Given the description of an element on the screen output the (x, y) to click on. 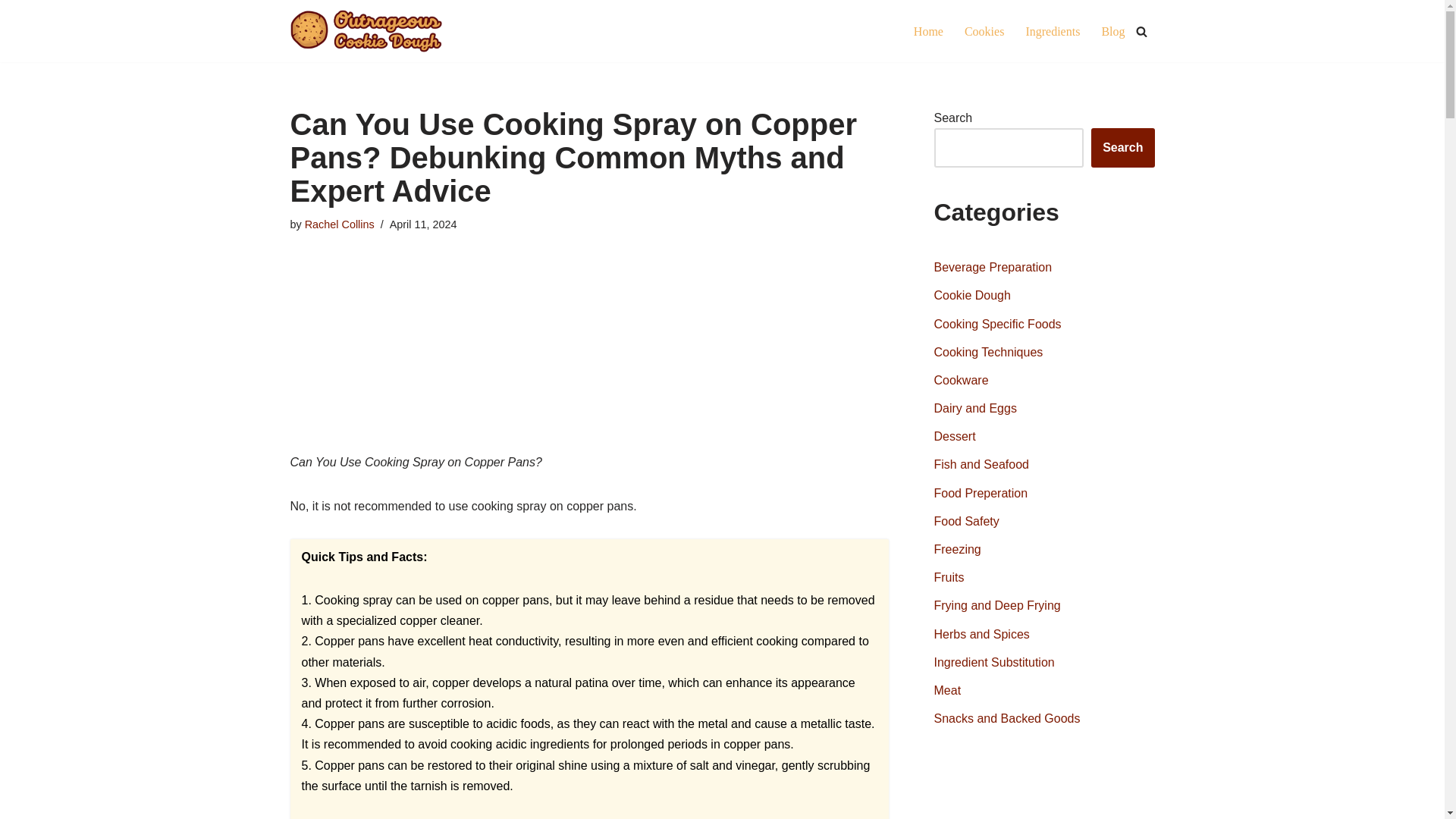
Food Safety (966, 521)
Frying and Deep Frying (997, 604)
Cookie Dough (972, 295)
Fruits (948, 576)
Home (928, 31)
Dairy and Eggs (975, 408)
Food Preperation (980, 492)
Cooking Specific Foods (997, 323)
Dessert (954, 436)
Cookware (961, 379)
Posts by Rachel Collins (339, 224)
Ingredients (1052, 31)
Freezing (957, 549)
Skip to content (11, 31)
Beverage Preparation (993, 267)
